Given the description of an element on the screen output the (x, y) to click on. 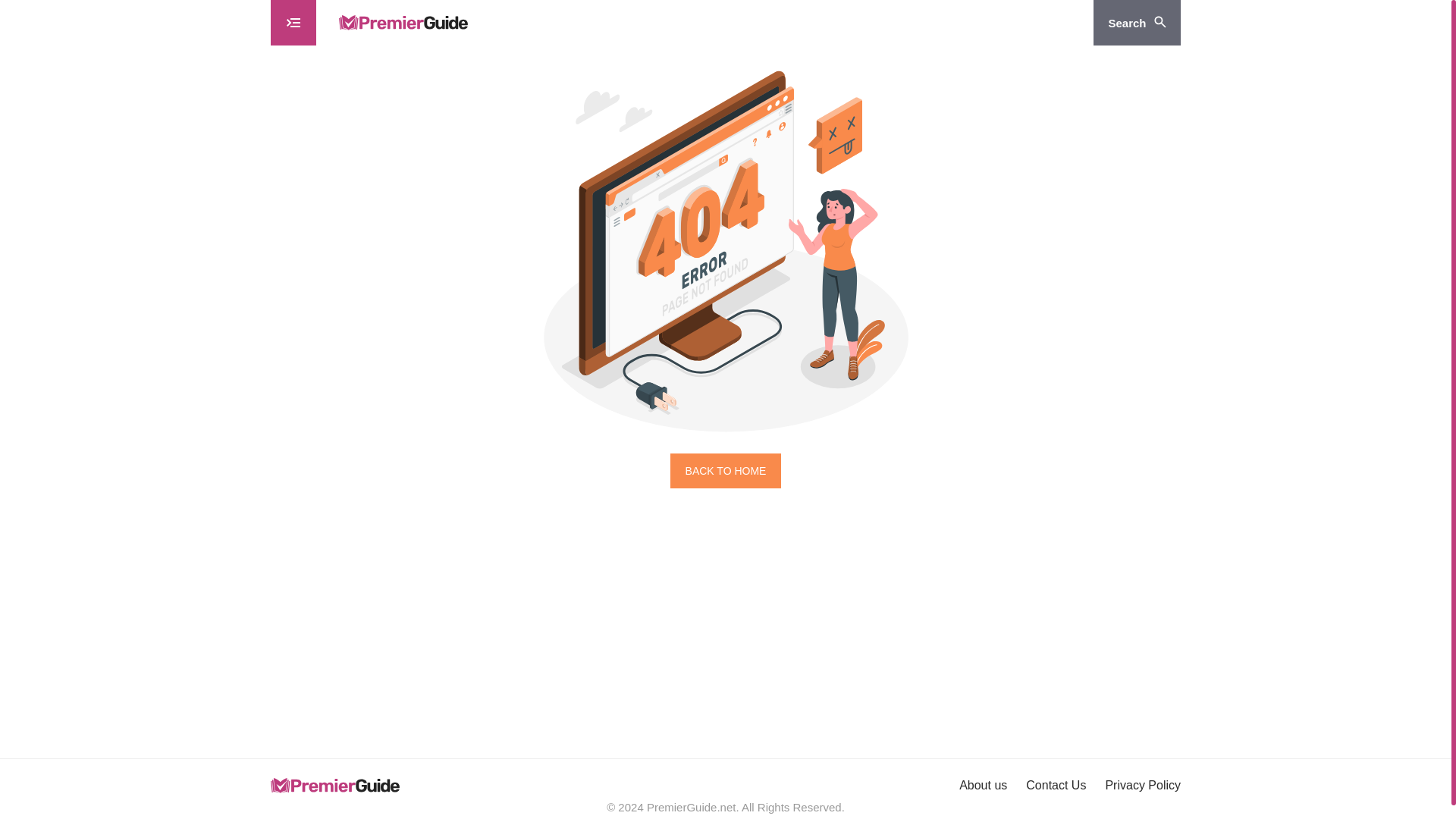
Contact Us (1056, 784)
About us (983, 784)
BACK TO HOME (725, 470)
Search (1136, 22)
Privacy Policy (1142, 784)
